Given the description of an element on the screen output the (x, y) to click on. 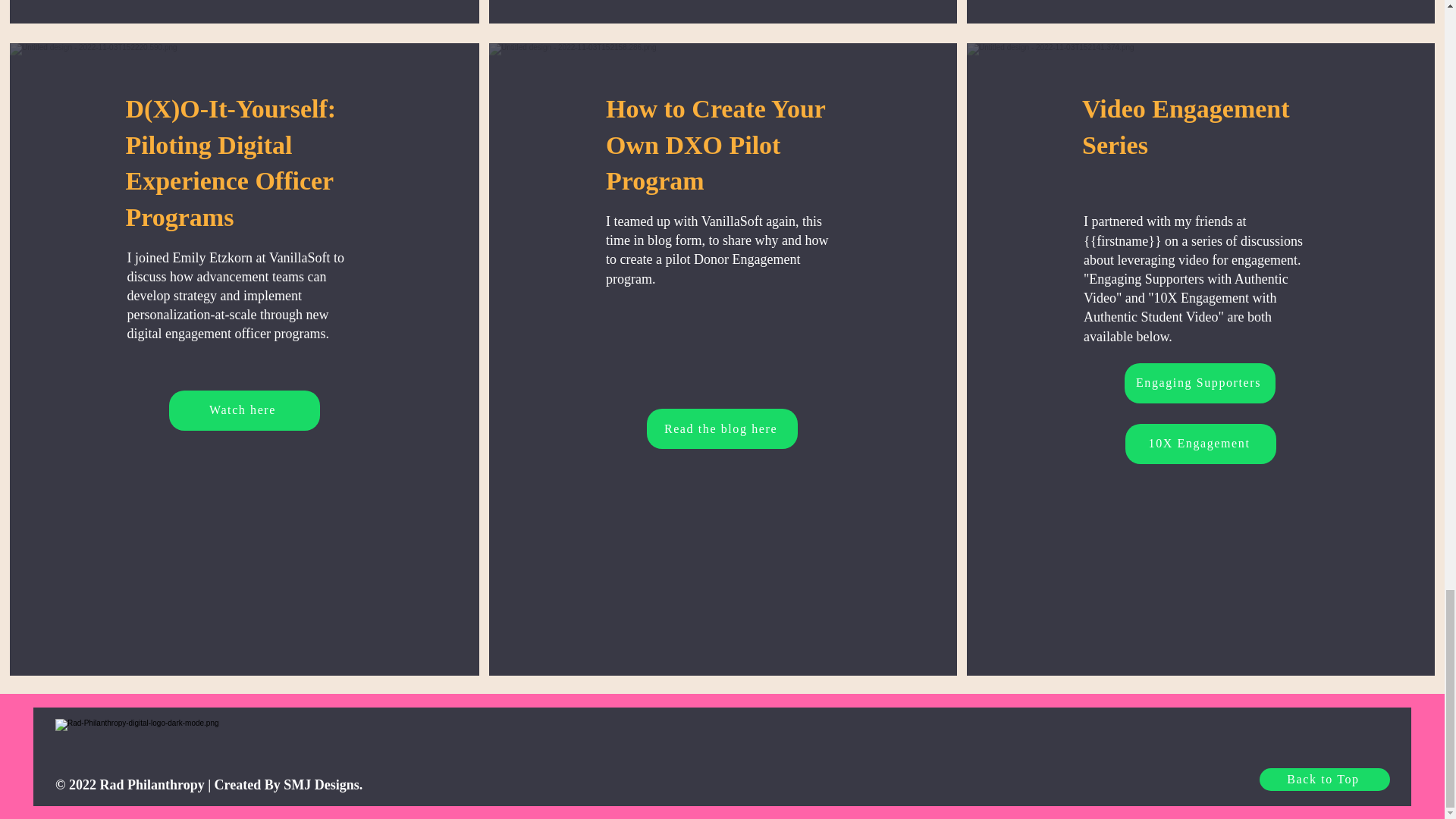
Watch here (243, 410)
10X Engagement (1200, 444)
Read the blog here (721, 428)
Back to Top (1324, 779)
Engaging Supporters (1199, 383)
Video Engagement Series (1185, 126)
